Given the description of an element on the screen output the (x, y) to click on. 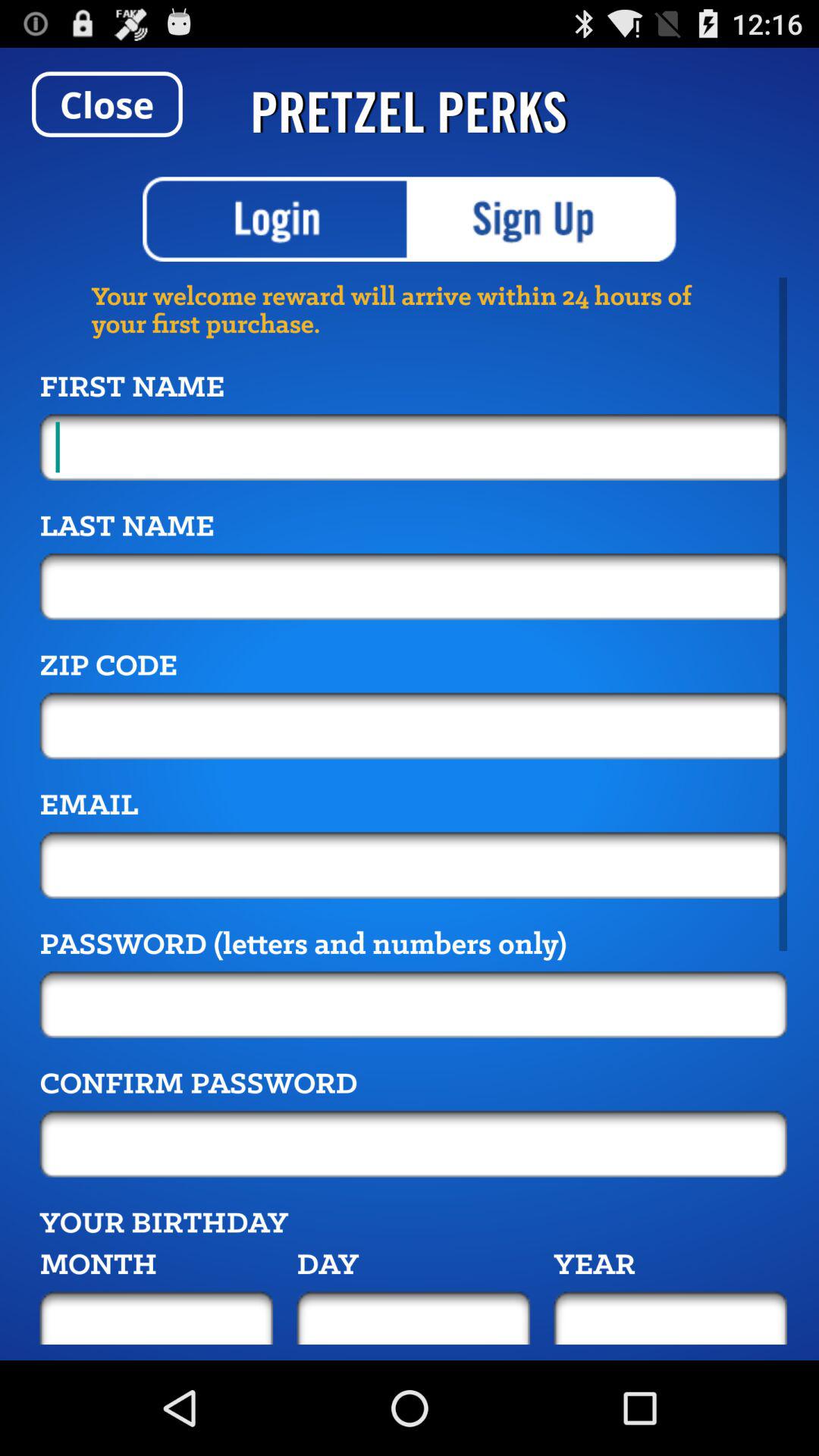
enter birthday month (156, 1317)
